Given the description of an element on the screen output the (x, y) to click on. 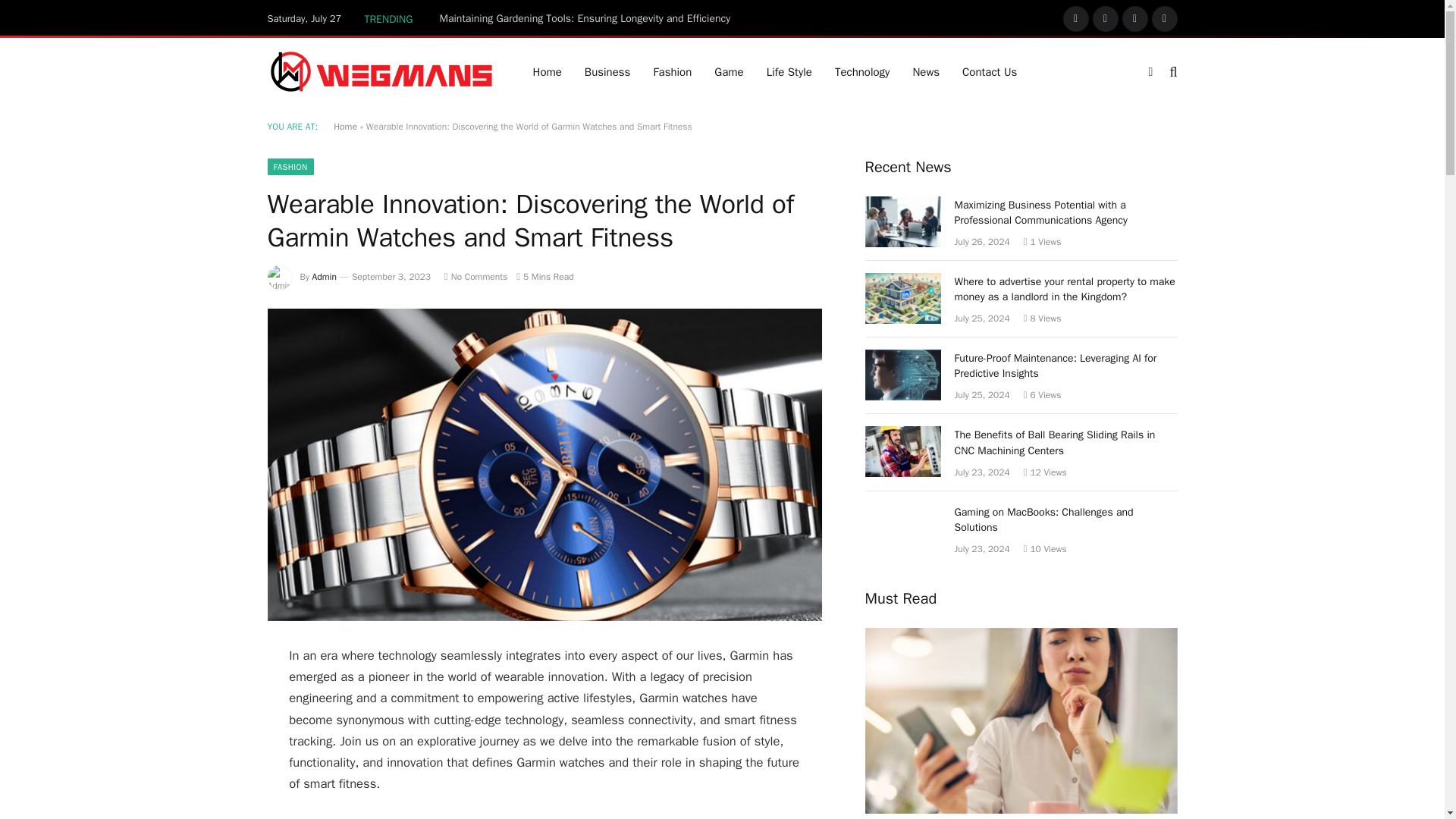
FASHION (289, 166)
Life Style (789, 71)
Technology (862, 71)
Posts by Admin (324, 276)
Search (1171, 71)
Game (728, 71)
Home (344, 126)
Business (607, 71)
No Comments (475, 276)
Admin (324, 276)
Contact Us (988, 71)
Fashion (672, 71)
Home (547, 71)
wegmans.co.uk (380, 71)
